Given the description of an element on the screen output the (x, y) to click on. 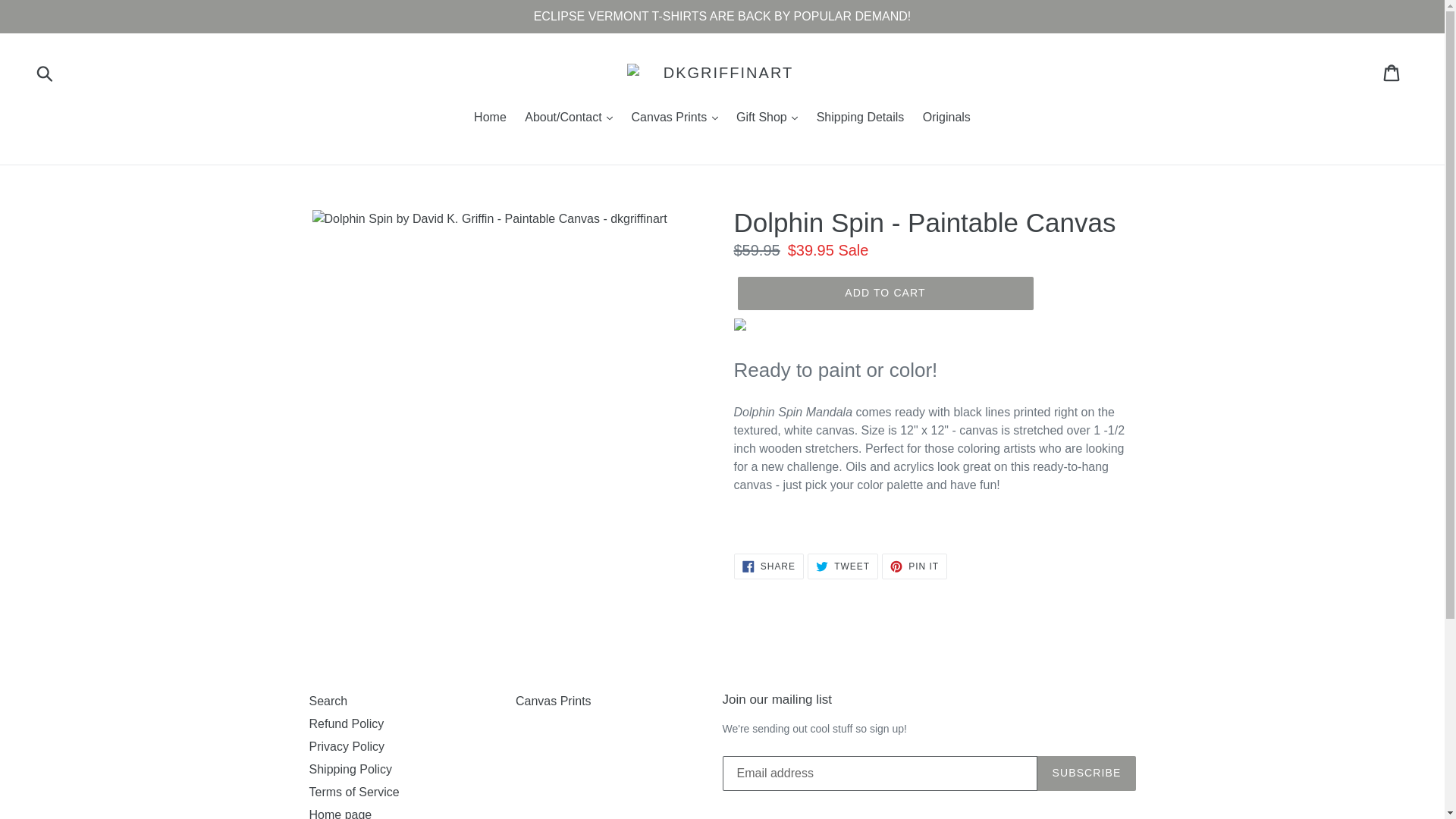
Cart (1392, 72)
Submit (45, 72)
Home (489, 118)
